Given the description of an element on the screen output the (x, y) to click on. 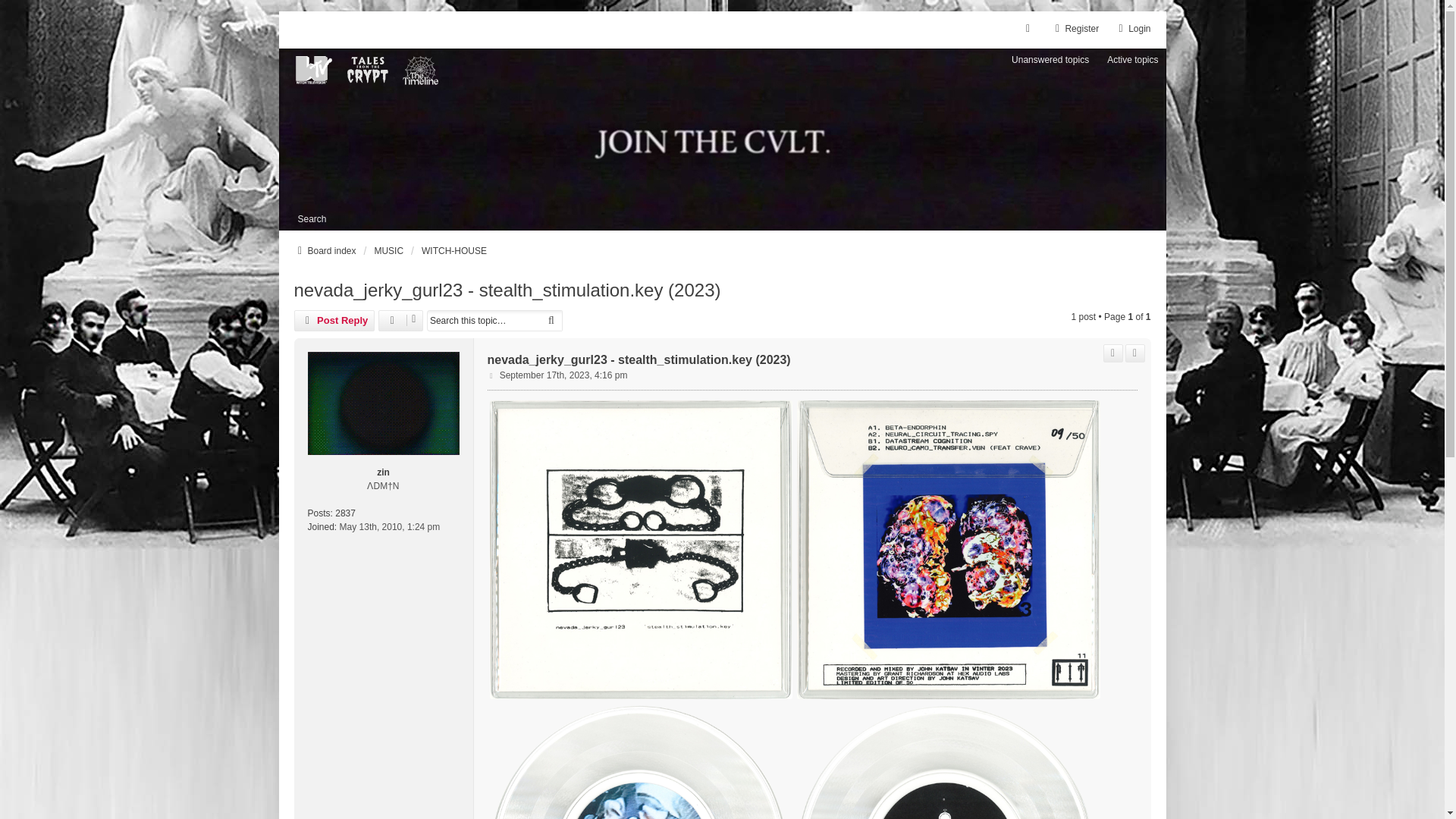
zin (383, 471)
Login (1132, 29)
Search (551, 320)
WITCH-HOUSE (454, 250)
Active topics (1132, 59)
Board index (325, 250)
2837 (344, 513)
Search (551, 320)
Search (311, 219)
WITCH-HOUSE (454, 250)
